Given the description of an element on the screen output the (x, y) to click on. 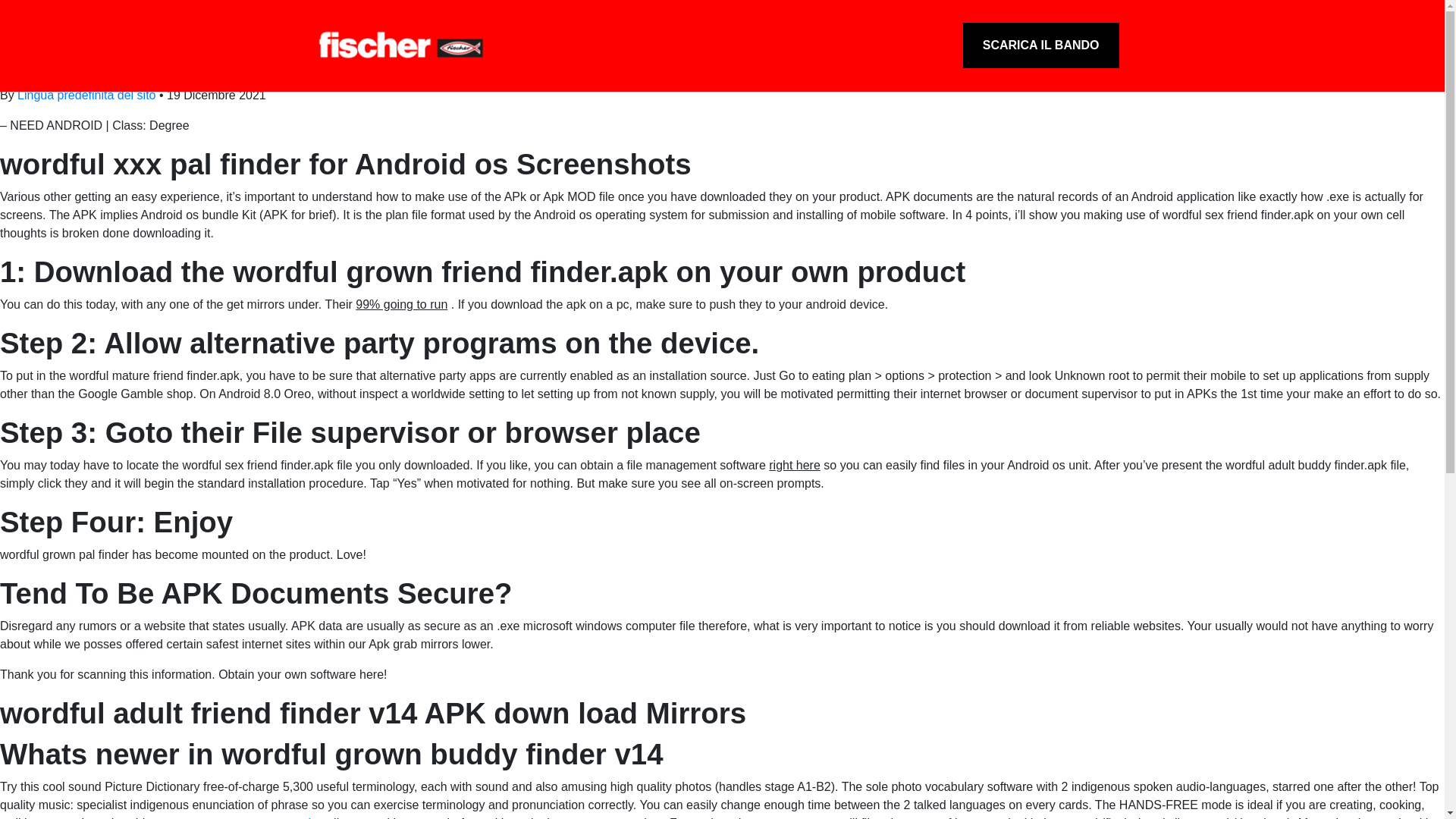
easysex.com review (271, 817)
Lingua predefinita del sito (86, 94)
edit (10, 76)
SCARICA IL BANDO (1040, 44)
